Given the description of an element on the screen output the (x, y) to click on. 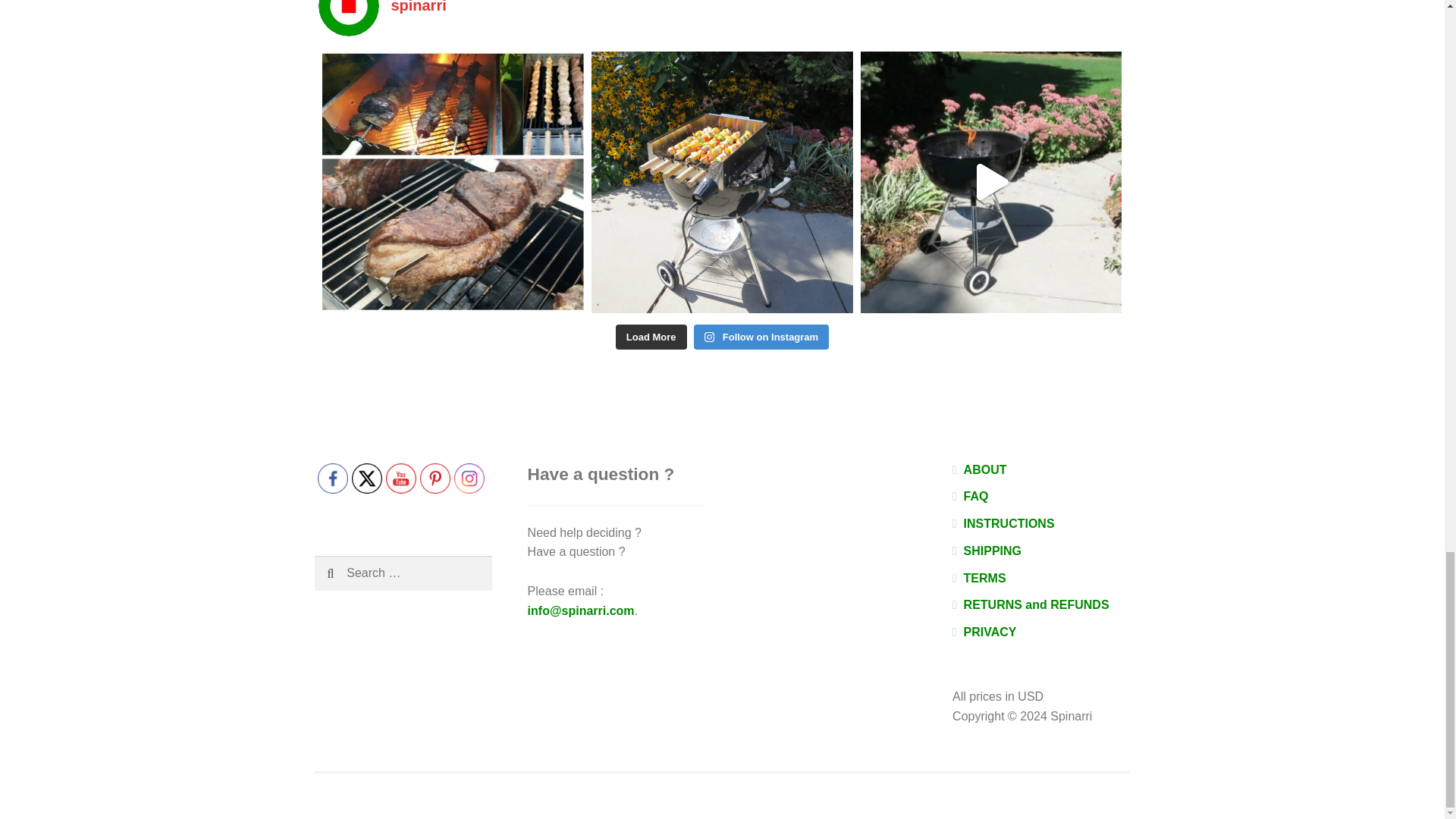
spinarri (721, 18)
Search (352, 573)
Facebook (332, 478)
Search (352, 573)
Twitter (366, 478)
YouTube (400, 478)
Instagram (469, 478)
